Given the description of an element on the screen output the (x, y) to click on. 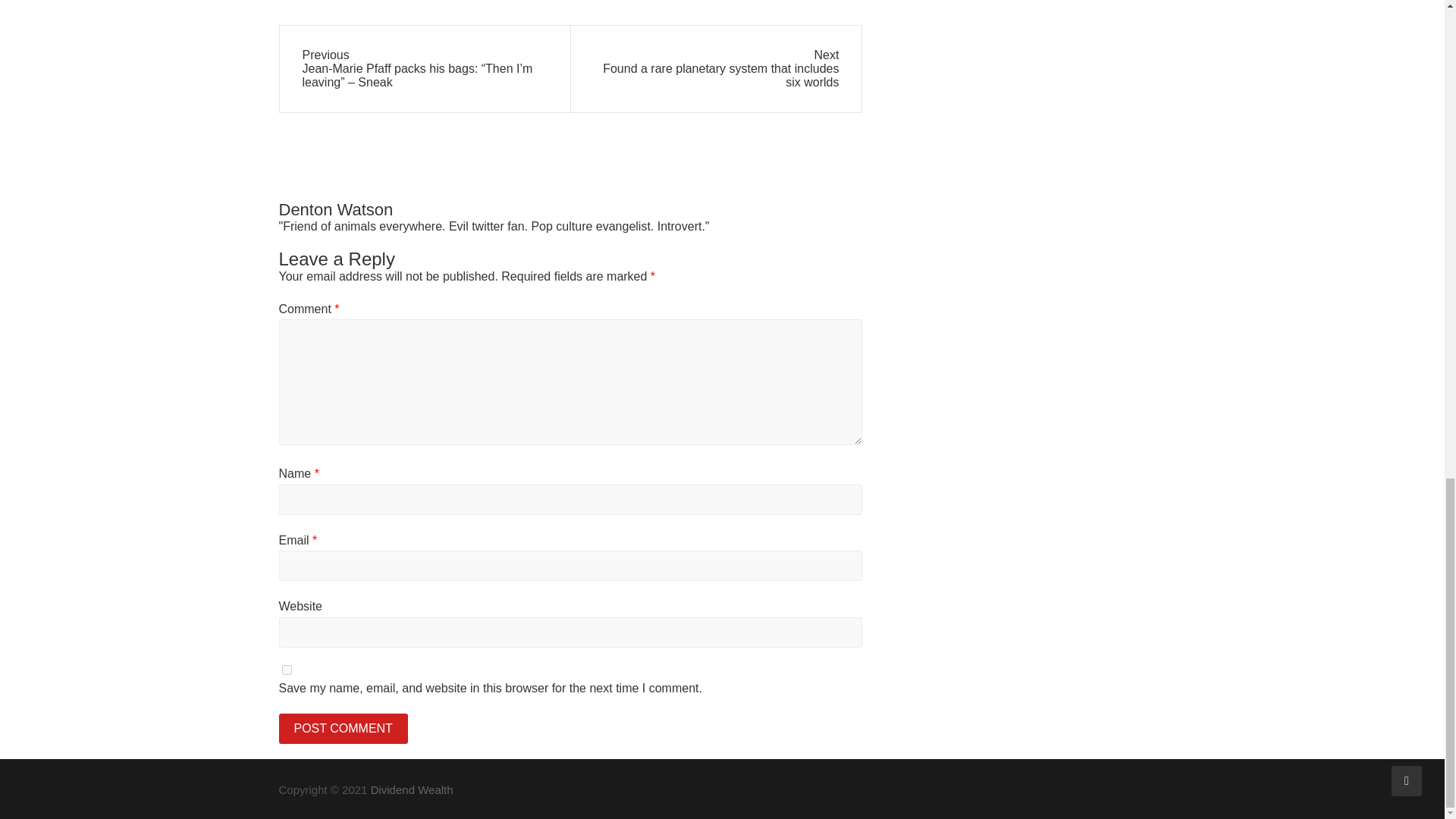
Dividend Wealth (411, 789)
Post Comment (343, 728)
yes (287, 669)
Post Comment (343, 728)
